Given the description of an element on the screen output the (x, y) to click on. 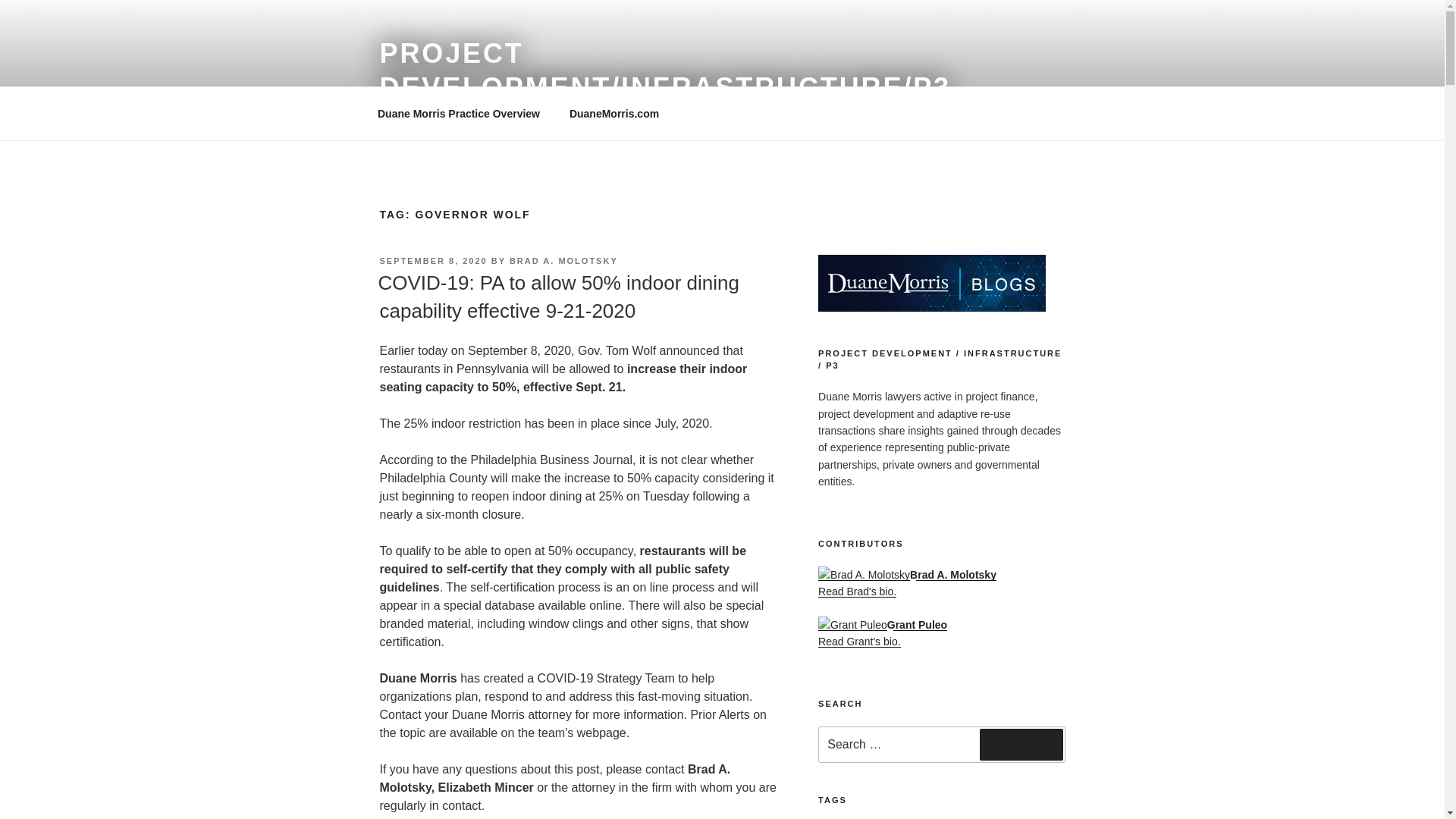
BRAD A. MOLOTSKY (563, 260)
Duane Morris Practice Overview (458, 113)
Duane Morris LLP firm website (613, 113)
SEPTEMBER 8, 2020 (432, 260)
DuaneMorris.com (613, 113)
Practice overview on DuaneMorris.com (458, 113)
